Given the description of an element on the screen output the (x, y) to click on. 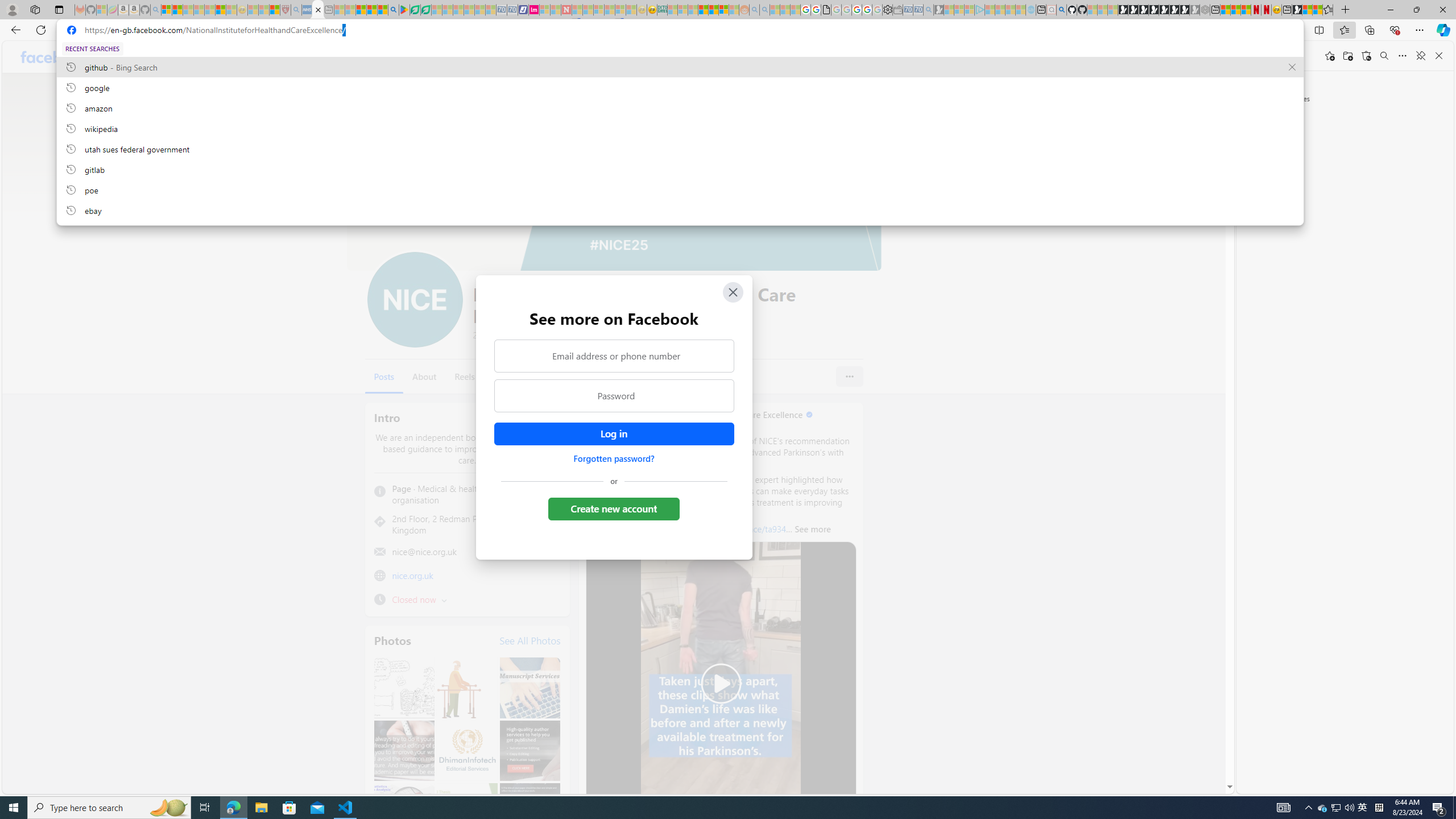
Trusted Community Engagement and Contributions | Guidelines (577, 9)
Recipes - MSN - Sleeping (253, 9)
Add folder (1347, 55)
Add this page to favorites (1330, 55)
